Given the description of an element on the screen output the (x, y) to click on. 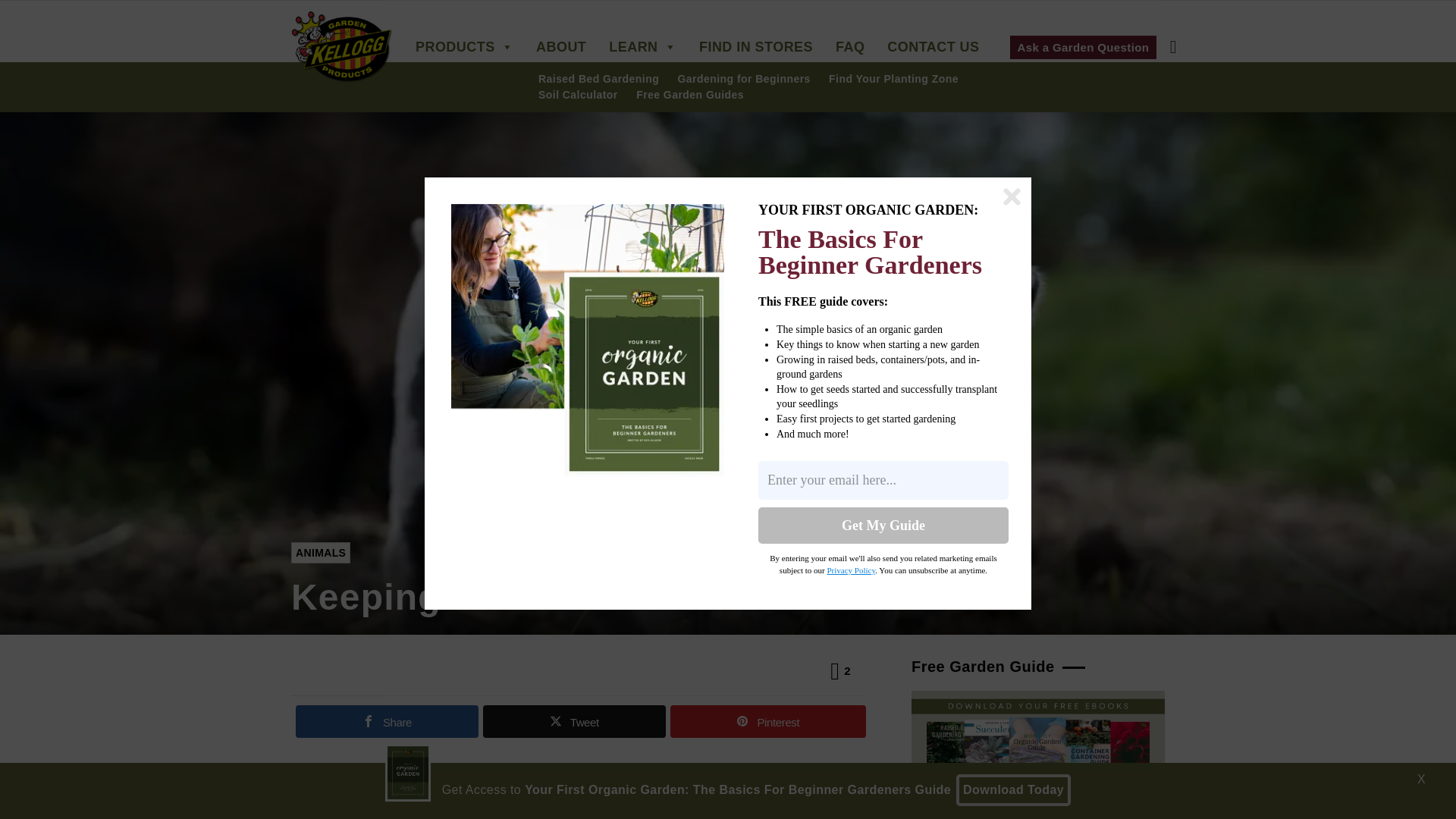
CONTACT US (936, 46)
PRODUCTS (467, 46)
Raised Bed Gardening (598, 79)
Soil Calculator (577, 95)
Find Your Planting Zone (893, 79)
LEARN (646, 46)
FIND IN STORES (759, 46)
Free Garden Guides (690, 95)
Gardening for Beginners (744, 79)
Ask a Garden Question (1083, 46)
Close (1011, 196)
ABOUT (564, 46)
Get My Guide (883, 524)
FAQ (853, 46)
